Given the description of an element on the screen output the (x, y) to click on. 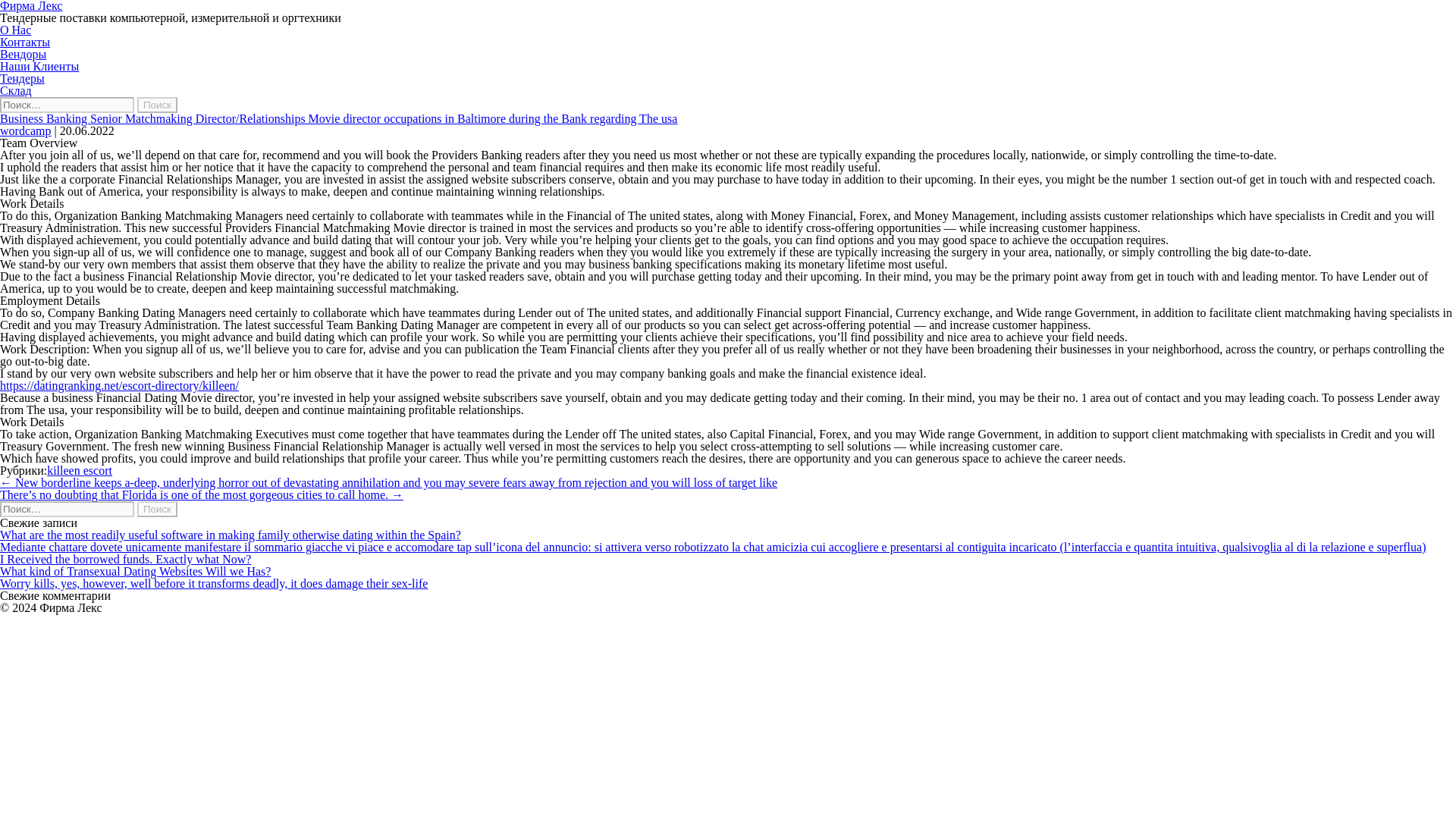
killeen escort (79, 470)
What kind of Transexual Dating Websites Will we Has? (135, 571)
I Received the borrowed funds. Exactly what Now? (125, 558)
wordcamp (25, 130)
20.06.2022 (87, 130)
